Given the description of an element on the screen output the (x, y) to click on. 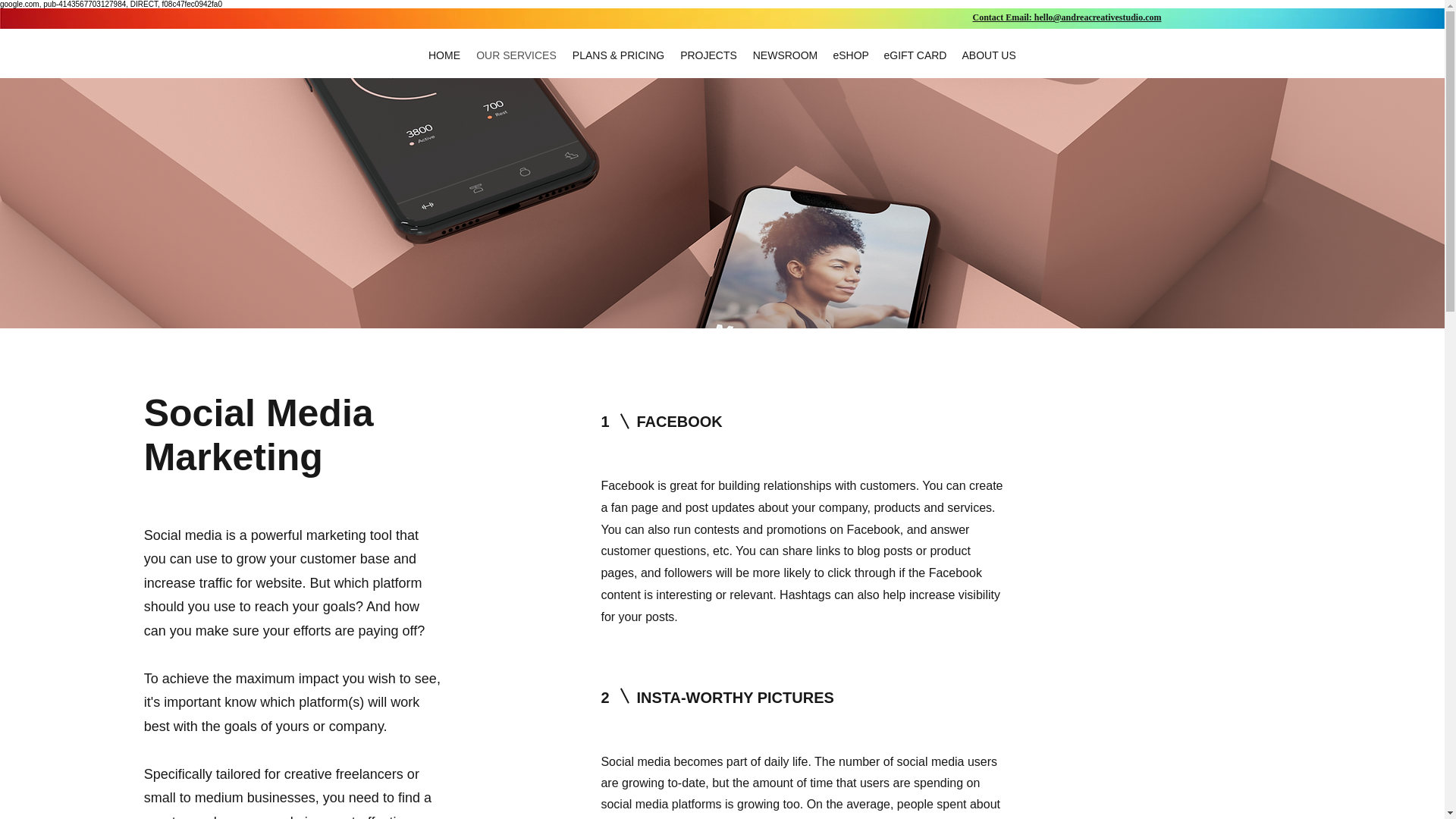
ABOUT US (988, 55)
PROJECTS (707, 55)
eSHOP (850, 55)
OUR SERVICES (516, 55)
NEWSROOM (784, 55)
eGIFT CARD (915, 55)
HOME (443, 55)
